Given the description of an element on the screen output the (x, y) to click on. 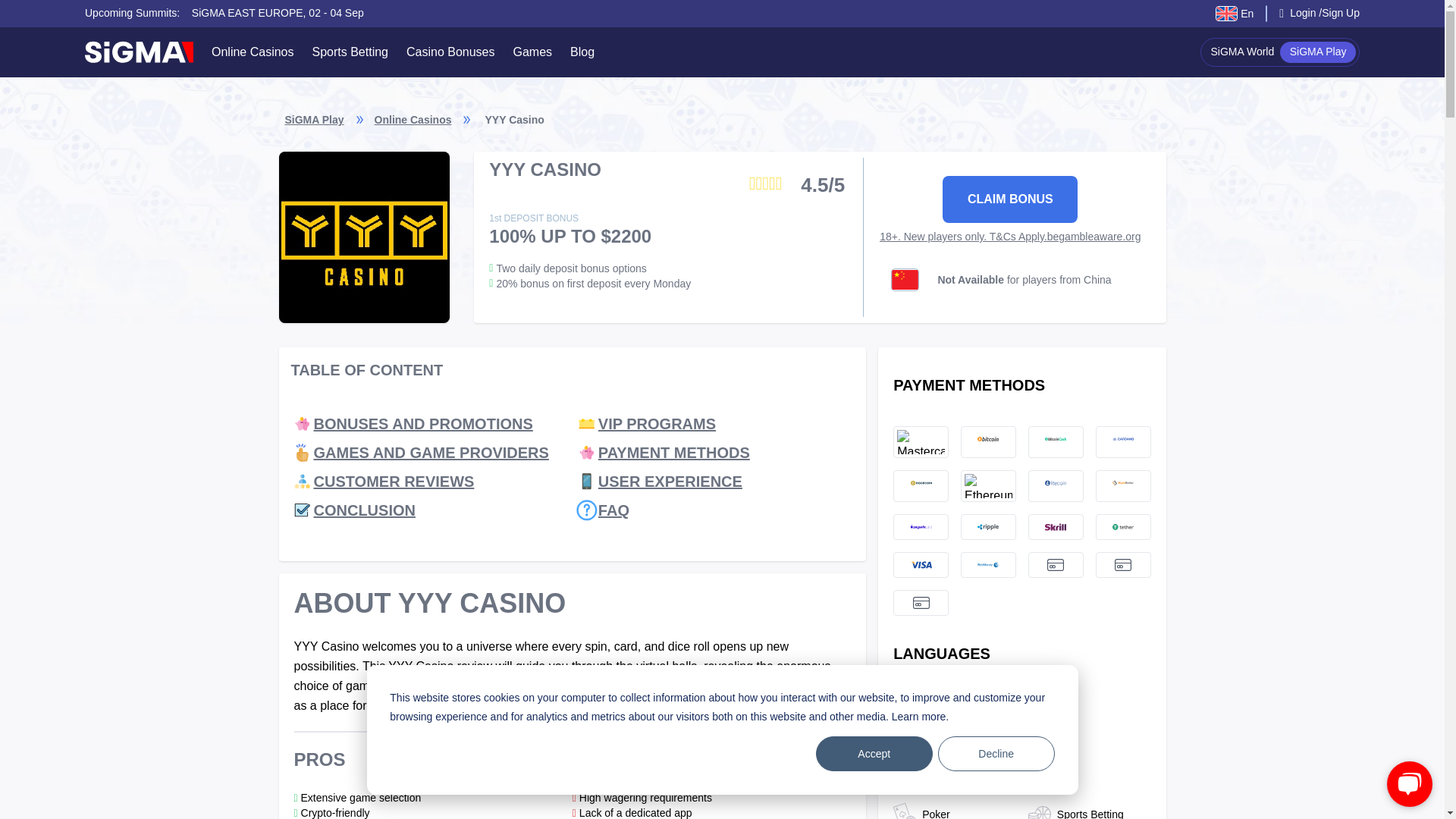
Upcoming Summits:    SiGMA EAST EUROPE, 02 - 04 Sep (224, 12)
